Given the description of an element on the screen output the (x, y) to click on. 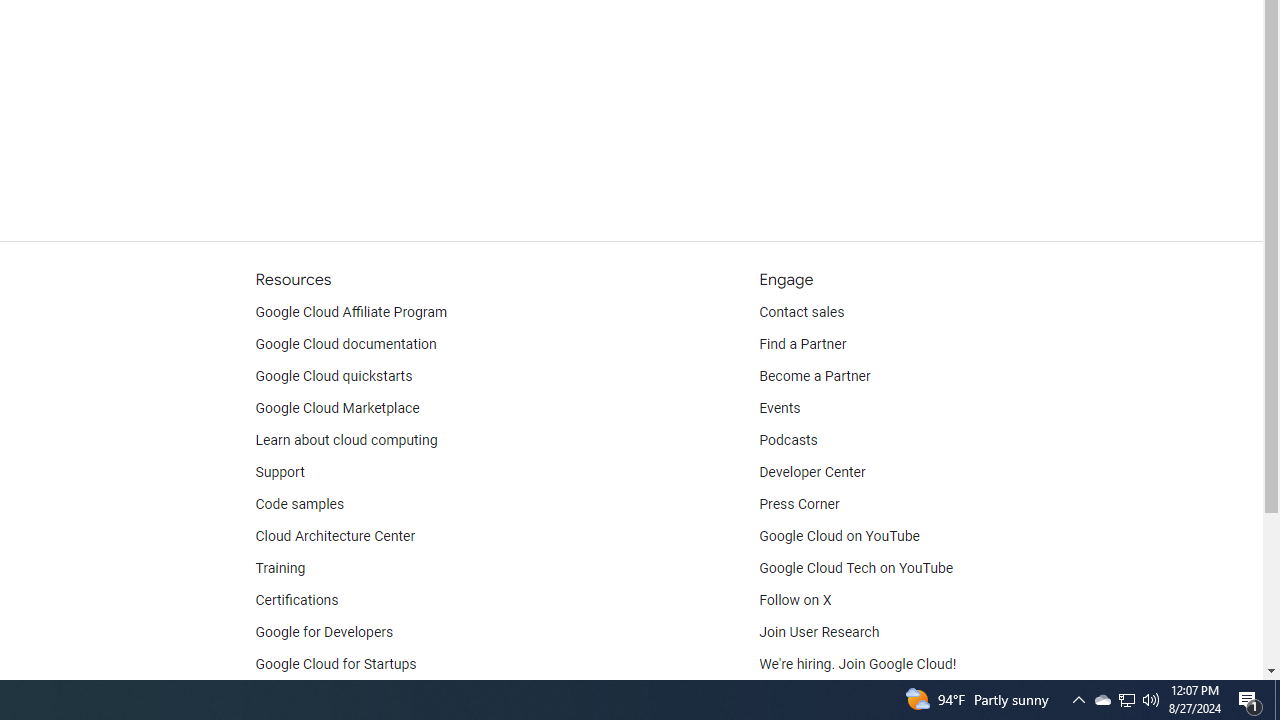
Google Cloud quickstarts (333, 376)
Join User Research (819, 632)
Developer Center (812, 472)
Training (279, 568)
We're hiring. Join Google Cloud! (858, 664)
Code samples (299, 504)
Google Cloud documentation (345, 344)
Google Cloud Tech on YouTube (856, 568)
Podcasts (788, 440)
Support (279, 472)
Find a Partner (803, 344)
Learn about cloud computing (345, 440)
Contact sales (801, 312)
Certifications (296, 600)
Google Cloud Affiliate Program (351, 312)
